Given the description of an element on the screen output the (x, y) to click on. 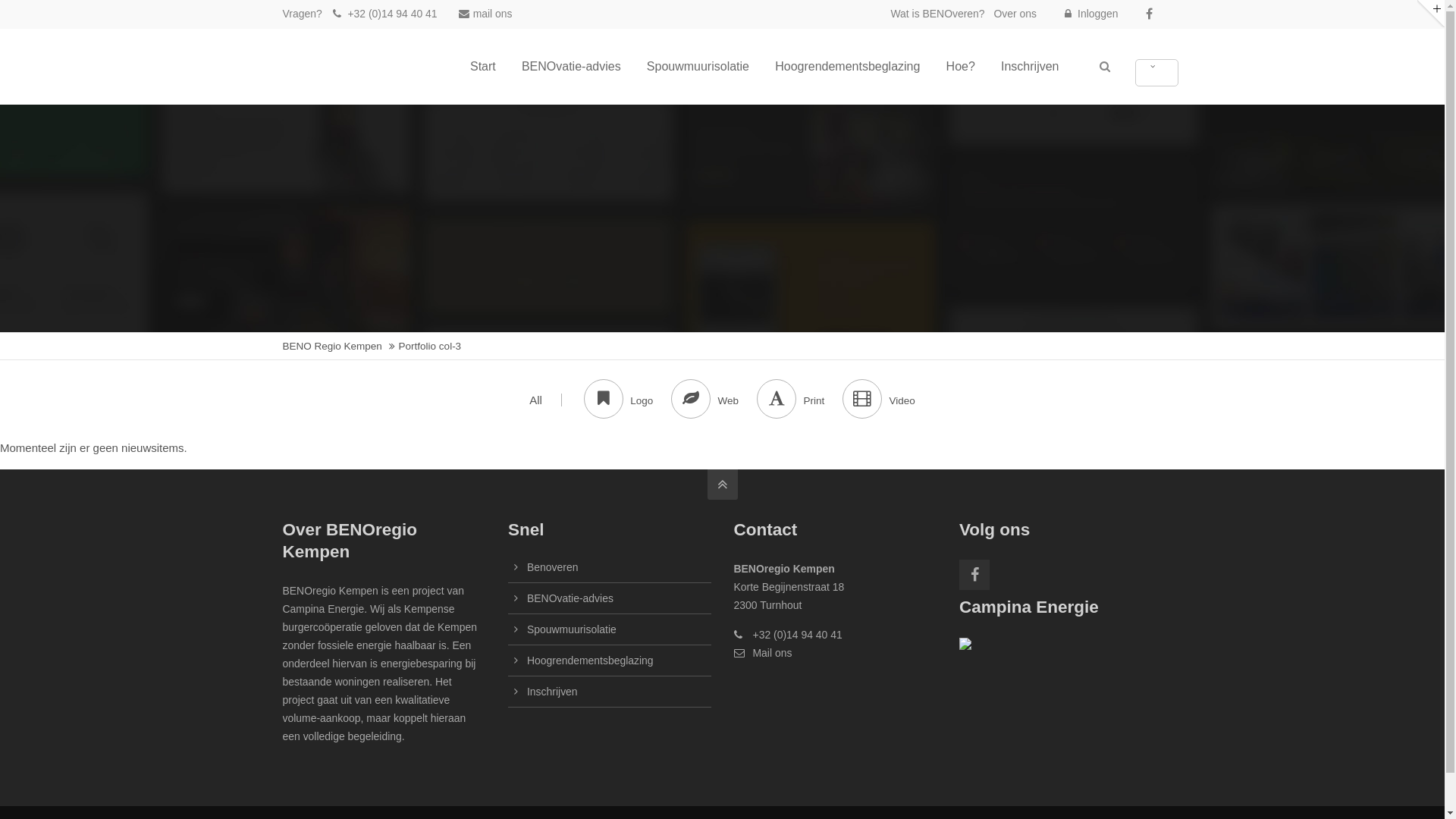
Benoveren Element type: text (552, 567)
mail ons Element type: text (483, 14)
Web Element type: text (713, 399)
Over ons Element type: text (1014, 13)
BENOvatie-advies Element type: text (570, 598)
Start Element type: text (482, 66)
Wat is BENOveren? Element type: text (937, 13)
BENOvatie-advies Element type: text (571, 66)
Inschrijven Element type: text (552, 691)
Mail ons Element type: text (771, 652)
Spouwmuurisolatie Element type: text (697, 66)
Spouwmuurisolatie Element type: text (571, 629)
Hoe? Element type: text (960, 66)
Portfolio col-3 Element type: text (429, 345)
All Element type: text (545, 399)
Hoogrendementsbeglazing Element type: text (847, 66)
Video Element type: text (878, 399)
Hoogrendementsbeglazing Element type: text (590, 660)
Inschrijven Element type: text (1029, 66)
BENO Regio Kempen Element type: text (331, 345)
Logo Element type: text (627, 399)
Print Element type: text (799, 399)
